Given the description of an element on the screen output the (x, y) to click on. 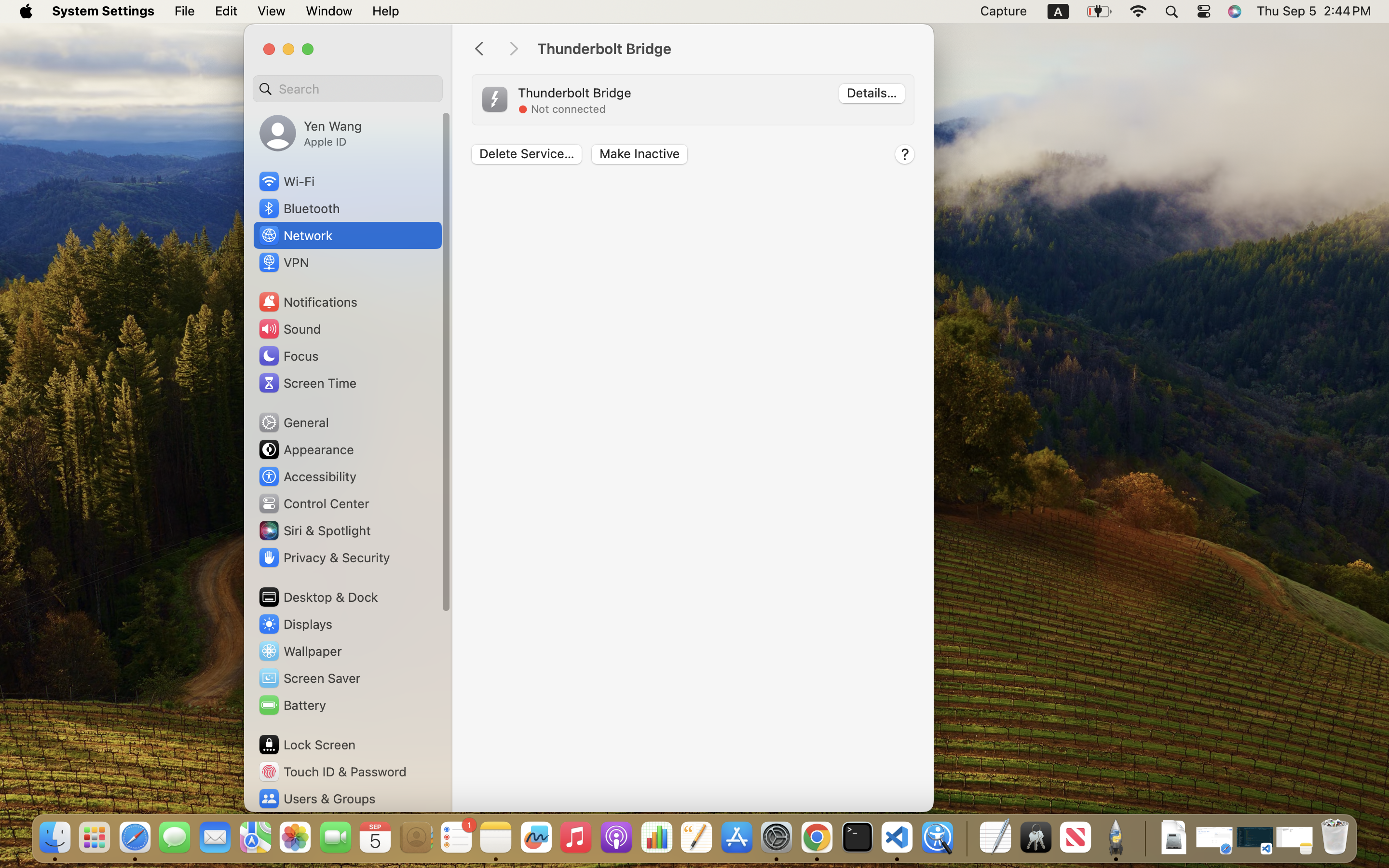
Yen Wang, Apple ID Element type: AXStaticText (310, 132)
